Given the description of an element on the screen output the (x, y) to click on. 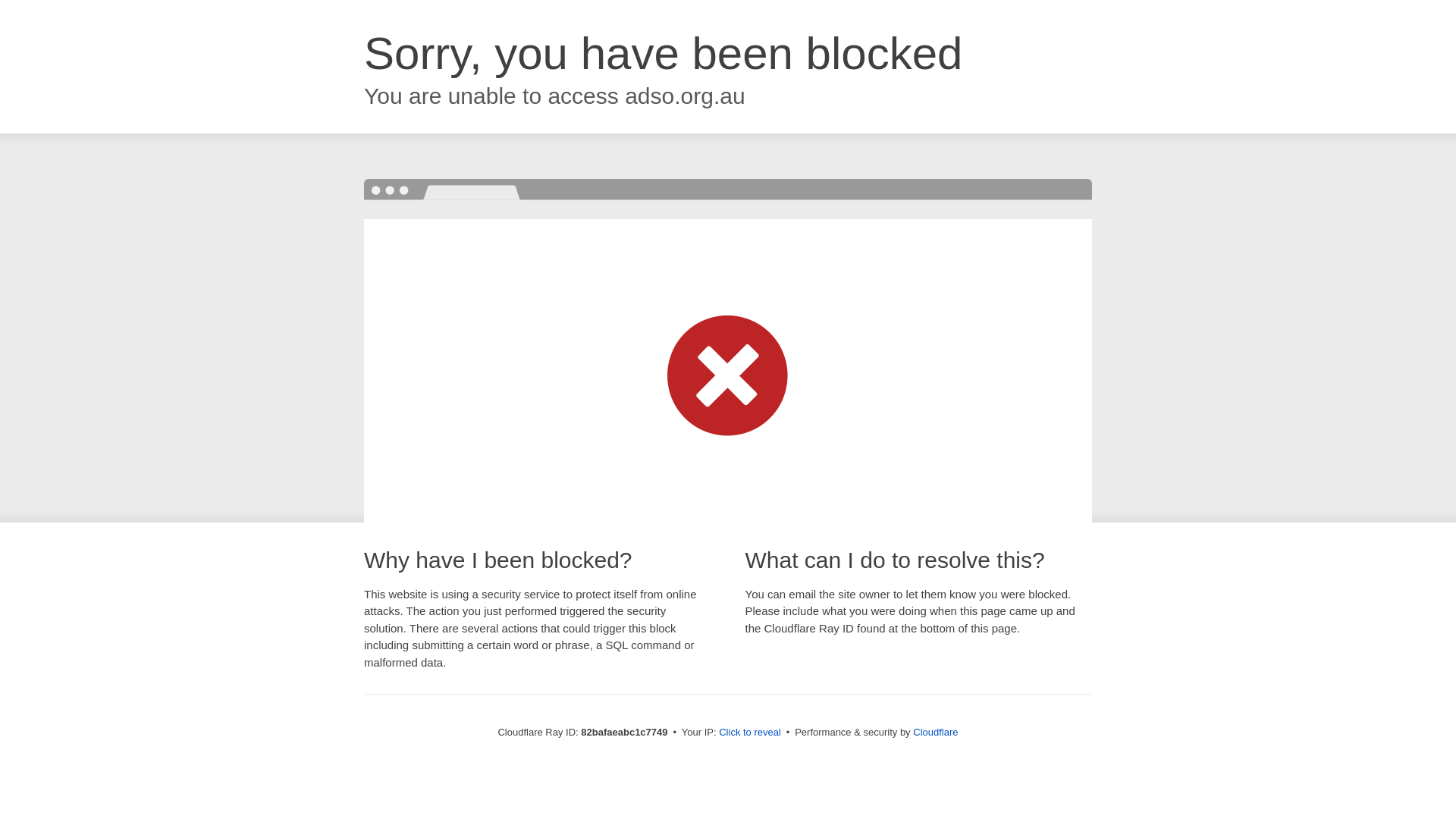
Cloudflare Element type: text (935, 731)
Click to reveal Element type: text (749, 732)
